Given the description of an element on the screen output the (x, y) to click on. 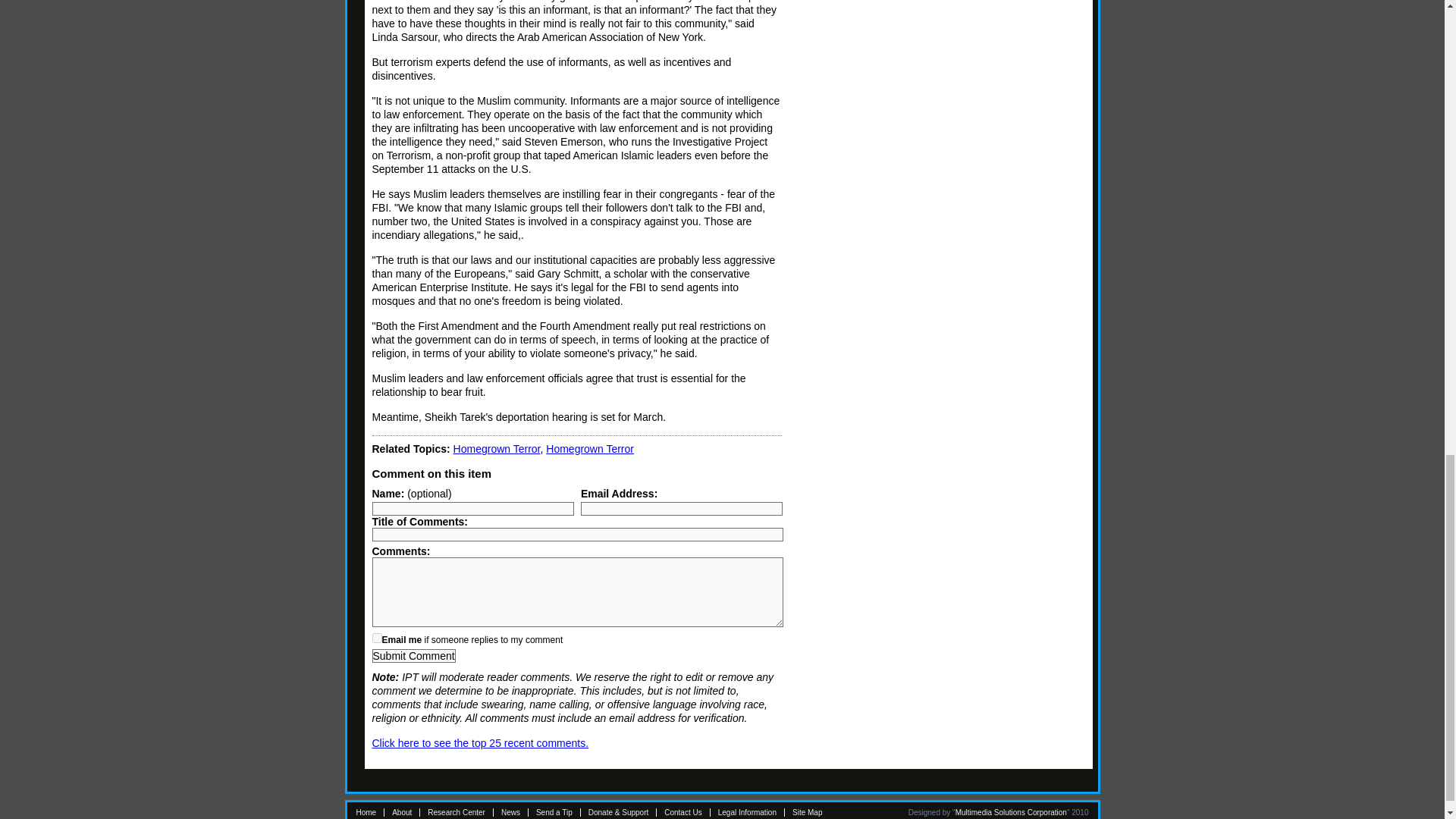
Click here to see the top 25 recent comments. (479, 743)
Homegrown Terror (496, 449)
1 (376, 637)
Homegrown Terror (589, 449)
About (401, 812)
Research Center (456, 812)
Submit Comment (412, 655)
Home (366, 812)
